Given the description of an element on the screen output the (x, y) to click on. 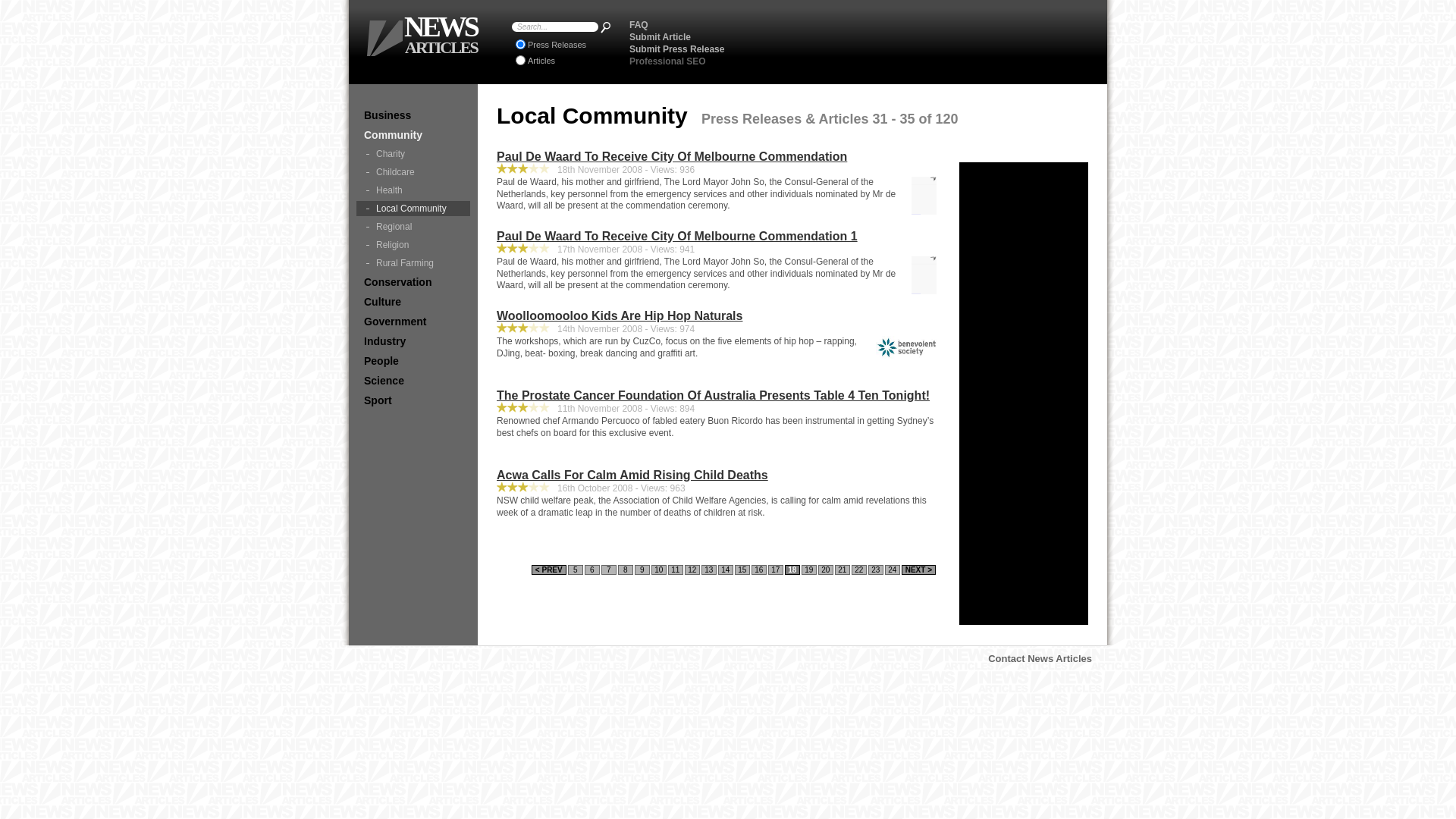
13 Element type: text (708, 569)
News Articles - Submit Articles and Online Press Releases Element type: hover (384, 38)
Science Element type: text (413, 380)
Industry Element type: text (413, 340)
12 Element type: text (691, 569)
3 Star Rating Element type: hover (544, 327)
3 Star Rating Element type: hover (522, 486)
18 Element type: text (792, 569)
3 Star Rating Element type: hover (522, 247)
3 Star Rating Element type: hover (512, 168)
Charity Element type: text (413, 153)
21 Element type: text (842, 569)
9 Element type: text (641, 569)
3 Star Rating Element type: hover (512, 327)
3 Star Rating Element type: hover (522, 406)
17 Element type: text (775, 569)
Search News Articles Element type: hover (605, 27)
3 Star Rating Element type: hover (501, 247)
3 Star Rating Element type: hover (512, 486)
3 Star Rating Element type: hover (512, 247)
Professional SEO Element type: text (667, 61)
Advertisement Element type: hover (917, 41)
Childcare Element type: text (413, 171)
14 Element type: text (725, 569)
15 Element type: text (741, 569)
Local Community Element type: text (413, 208)
3 Star Rating Element type: hover (533, 486)
Sport Element type: text (413, 400)
5 Element type: text (575, 569)
Conservation Element type: text (413, 281)
Culture Element type: text (413, 301)
3 Star Rating Element type: hover (501, 327)
Government Element type: text (413, 321)
3 Star Rating Element type: hover (533, 327)
8 Element type: text (625, 569)
Paul De Waard To Receive City Of Melbourne Commendation 1 Element type: hover (923, 275)
Advertisement Element type: hover (1023, 393)
Business Element type: text (413, 114)
3 Star Rating Element type: hover (533, 247)
Paul De Waard To Receive City Of Melbourne Commendation 1 Element type: text (716, 236)
3 Star Rating Element type: hover (544, 486)
20 Element type: text (825, 569)
3 Star Rating Element type: hover (533, 406)
3 Star Rating Element type: hover (512, 406)
Religion Element type: text (413, 244)
10 Element type: text (658, 569)
People Element type: text (413, 360)
7 Element type: text (608, 569)
3 Star Rating Element type: hover (522, 168)
3 Star Rating Element type: hover (544, 247)
3 Star Rating Element type: hover (533, 168)
24 Element type: text (892, 569)
3 Star Rating Element type: hover (501, 406)
11 Element type: text (675, 569)
Submit Press Release Element type: text (676, 48)
Acwa Calls For Calm Amid Rising Child Deaths Element type: text (716, 475)
Paul De Waard To Receive City Of Melbourne Commendation Element type: hover (923, 195)
Paul De Waard To Receive City Of Melbourne Commendation Element type: text (716, 156)
FAQ Element type: text (638, 24)
Health Element type: text (413, 189)
Rural Farming Element type: text (413, 262)
Submit Article Element type: text (659, 36)
3 Star Rating Element type: hover (501, 168)
Woolloomooloo Kids Are Hip Hop Naturals Element type: hover (905, 346)
19 Element type: text (808, 569)
Woolloomooloo Kids Are Hip Hop Naturals Element type: text (716, 316)
Community Element type: text (413, 134)
3 Star Rating Element type: hover (544, 406)
Regional Element type: text (413, 226)
23 Element type: text (875, 569)
6 Element type: text (591, 569)
16 Element type: text (758, 569)
22 Element type: text (858, 569)
3 Star Rating Element type: hover (544, 168)
3 Star Rating Element type: hover (522, 327)
< PREV Element type: text (548, 569)
Contact News Articles Element type: text (1040, 658)
NEXT > Element type: text (918, 569)
3 Star Rating Element type: hover (501, 486)
